Given the description of an element on the screen output the (x, y) to click on. 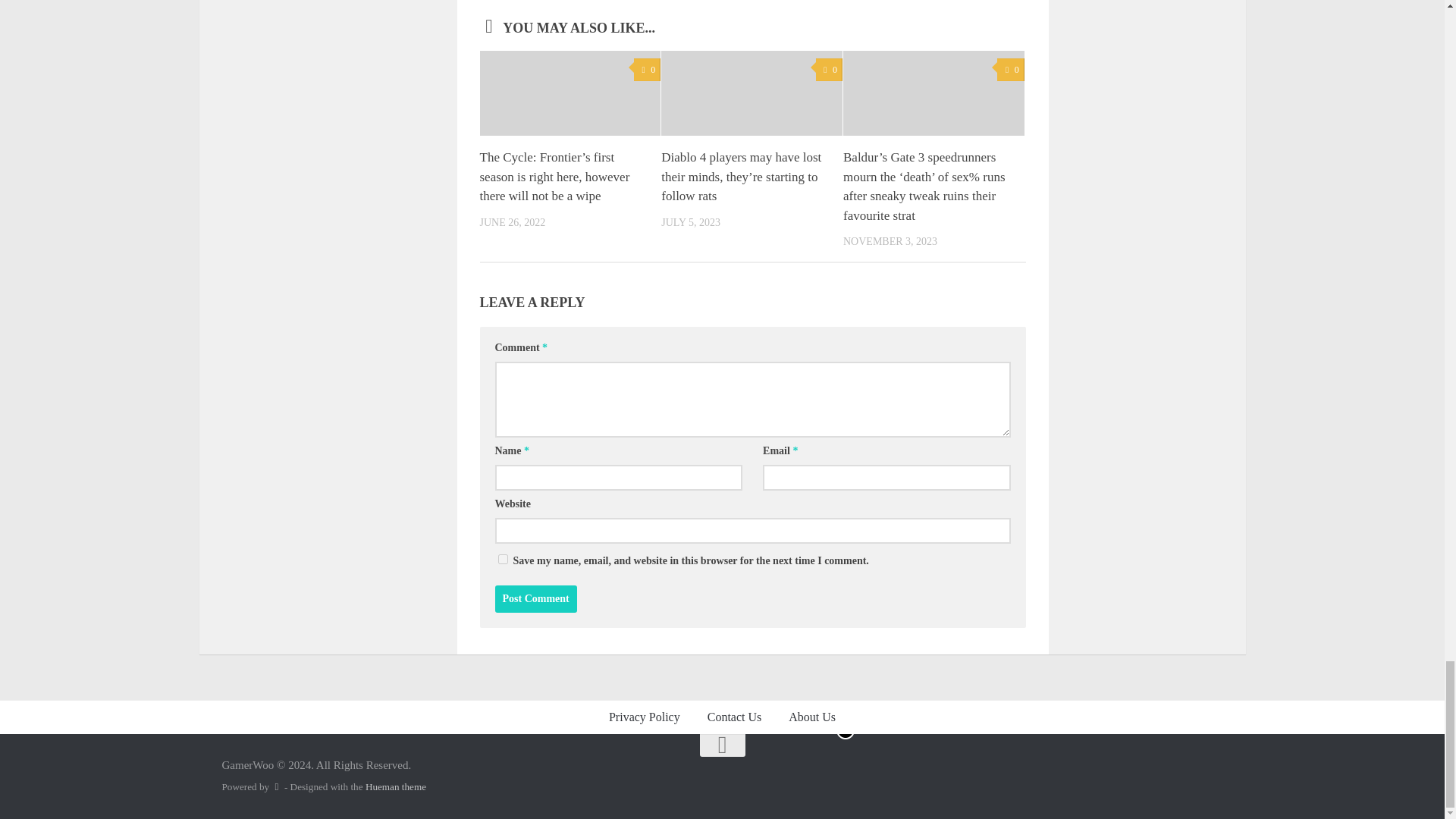
0 (1010, 69)
Privacy Policy (644, 717)
Post Comment (535, 598)
Contact Us (735, 717)
Powered by WordPress (275, 786)
Hueman theme (395, 786)
About Us (811, 717)
0 (829, 69)
Hueman theme (395, 786)
0 (647, 69)
yes (501, 559)
Post Comment (535, 598)
